Given the description of an element on the screen output the (x, y) to click on. 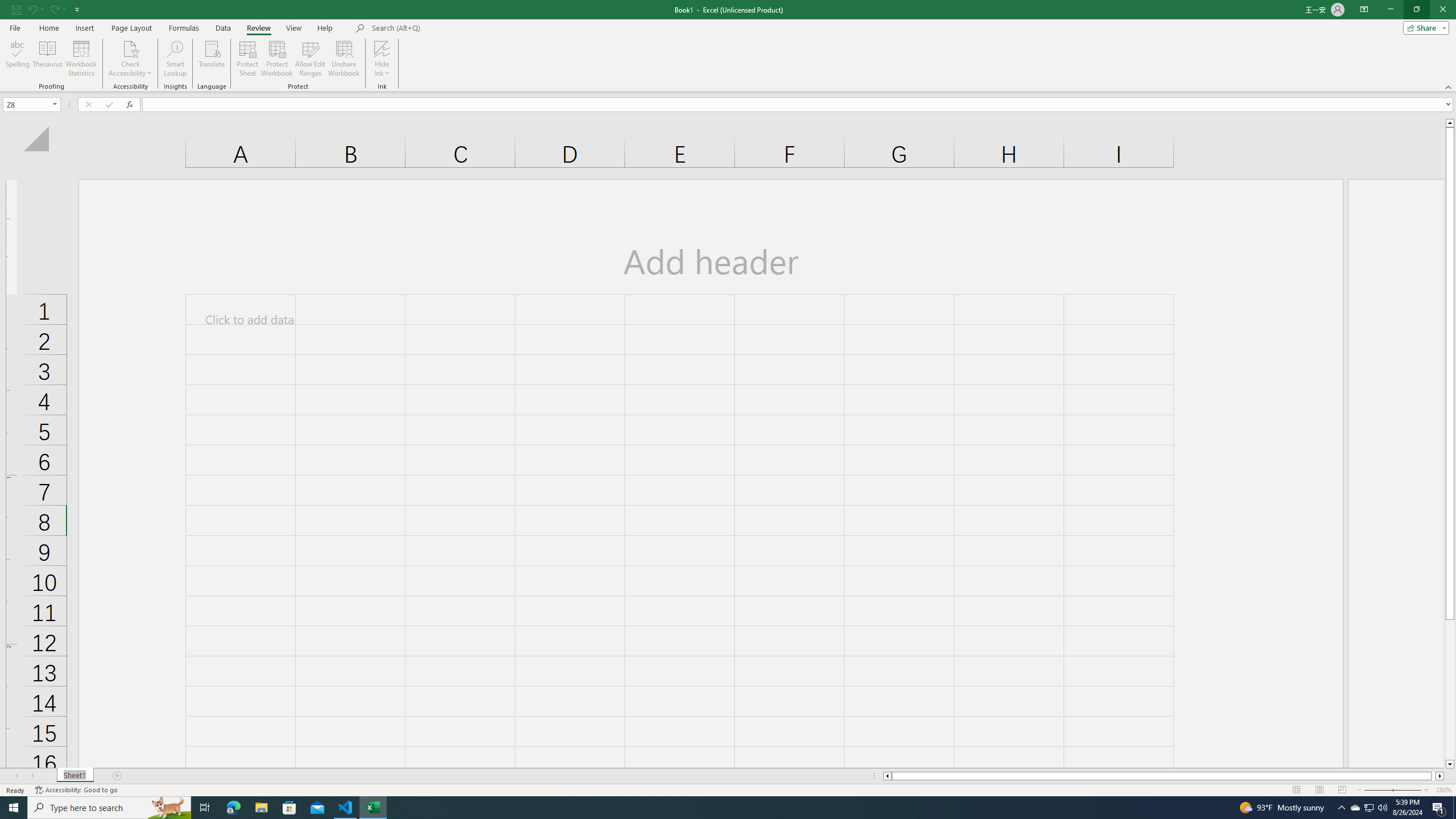
Protect Workbook... (277, 58)
